Given the description of an element on the screen output the (x, y) to click on. 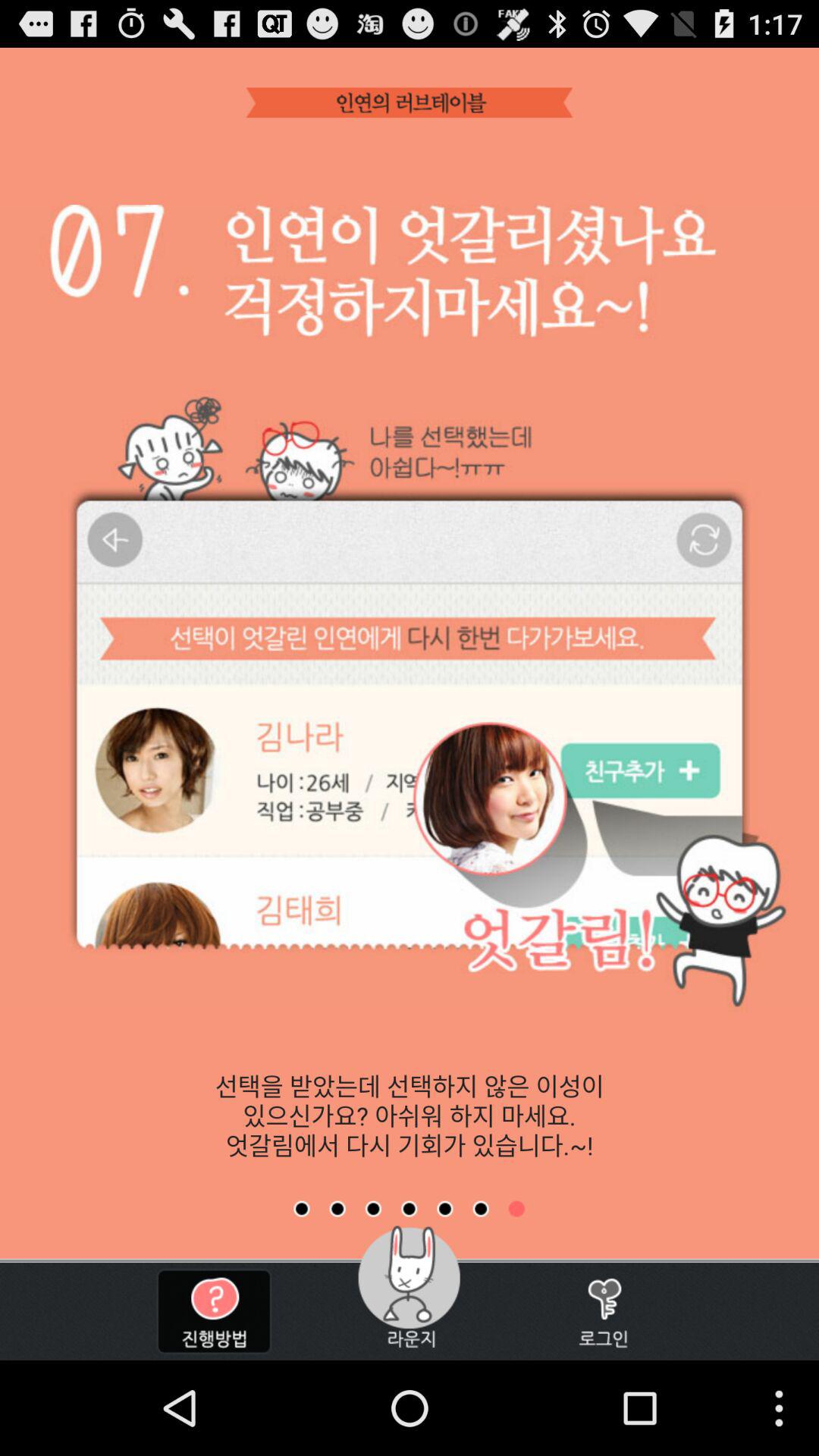
tap button at the bottom left corner (213, 1311)
